Given the description of an element on the screen output the (x, y) to click on. 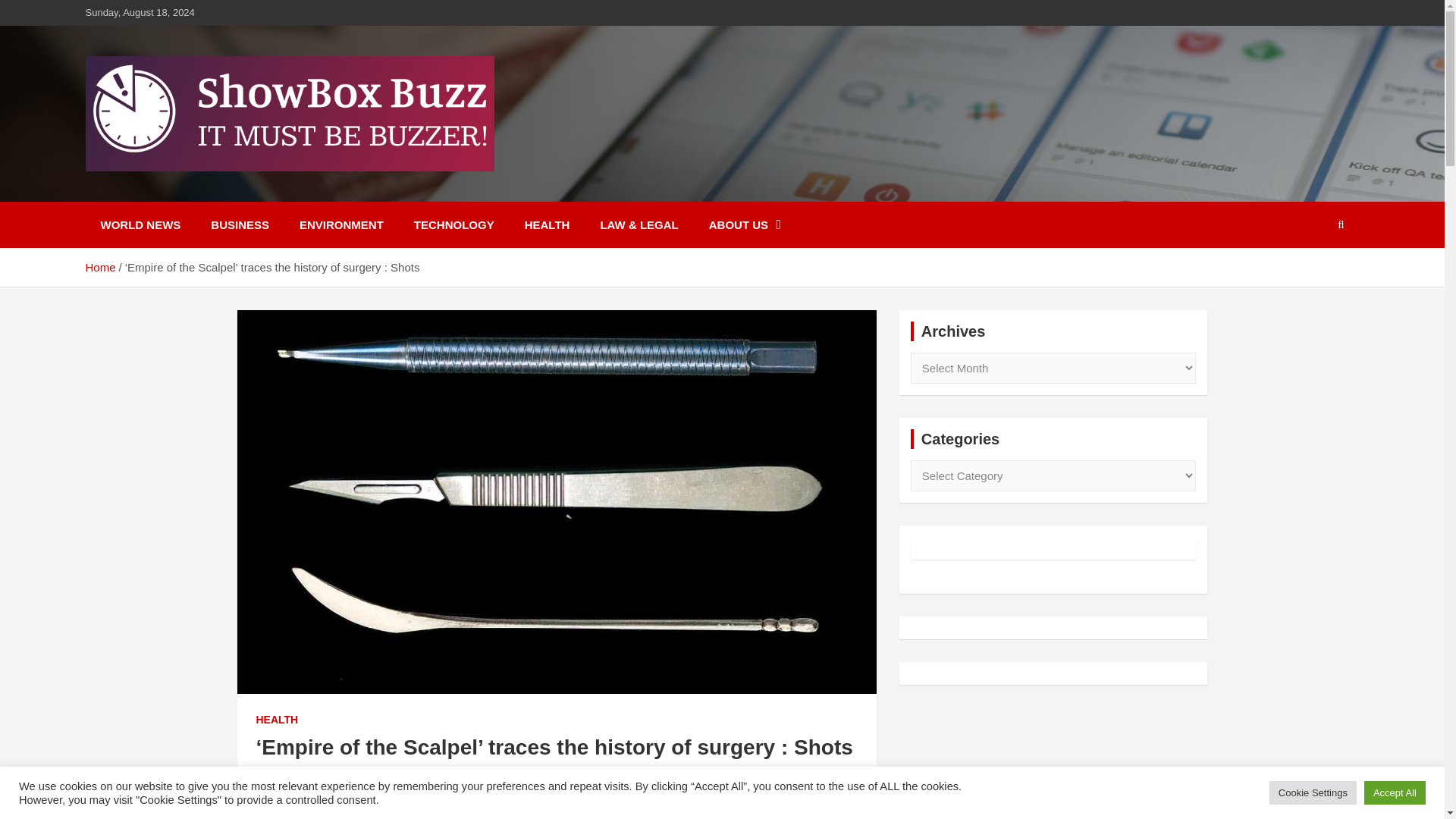
April 1, 2022 (285, 775)
HEALTH (547, 224)
ABOUT US (745, 224)
TECHNOLOGY (453, 224)
HEALTH (277, 720)
BUSINESS (239, 224)
ShowBox Buzz (193, 191)
WORLD NEWS (139, 224)
ENVIRONMENT (340, 224)
Home (99, 267)
